Given the description of an element on the screen output the (x, y) to click on. 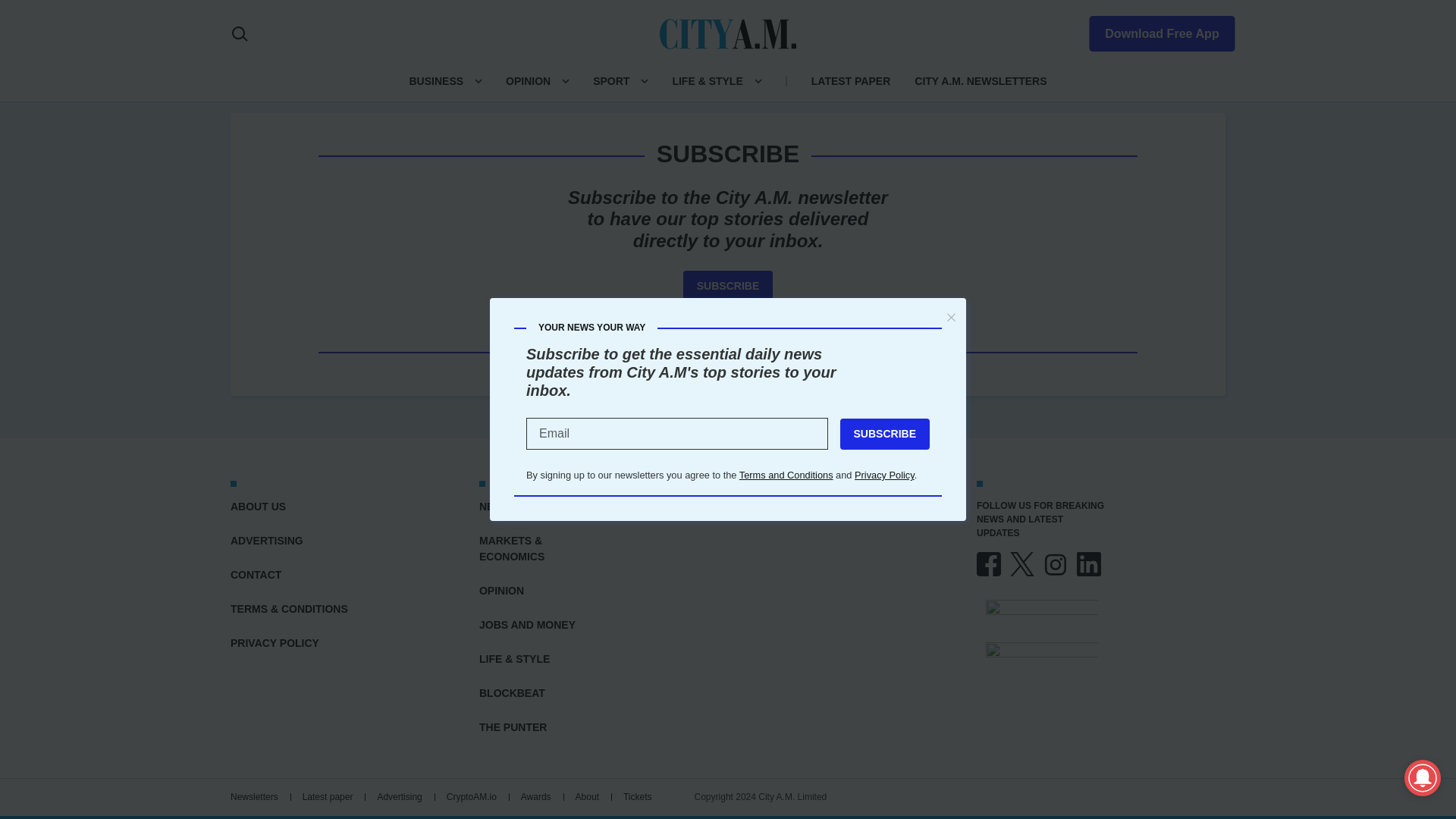
INSTAGRAM (1055, 564)
X (1021, 564)
FACEBOOK (988, 564)
LINKEDIN (1088, 564)
